Given the description of an element on the screen output the (x, y) to click on. 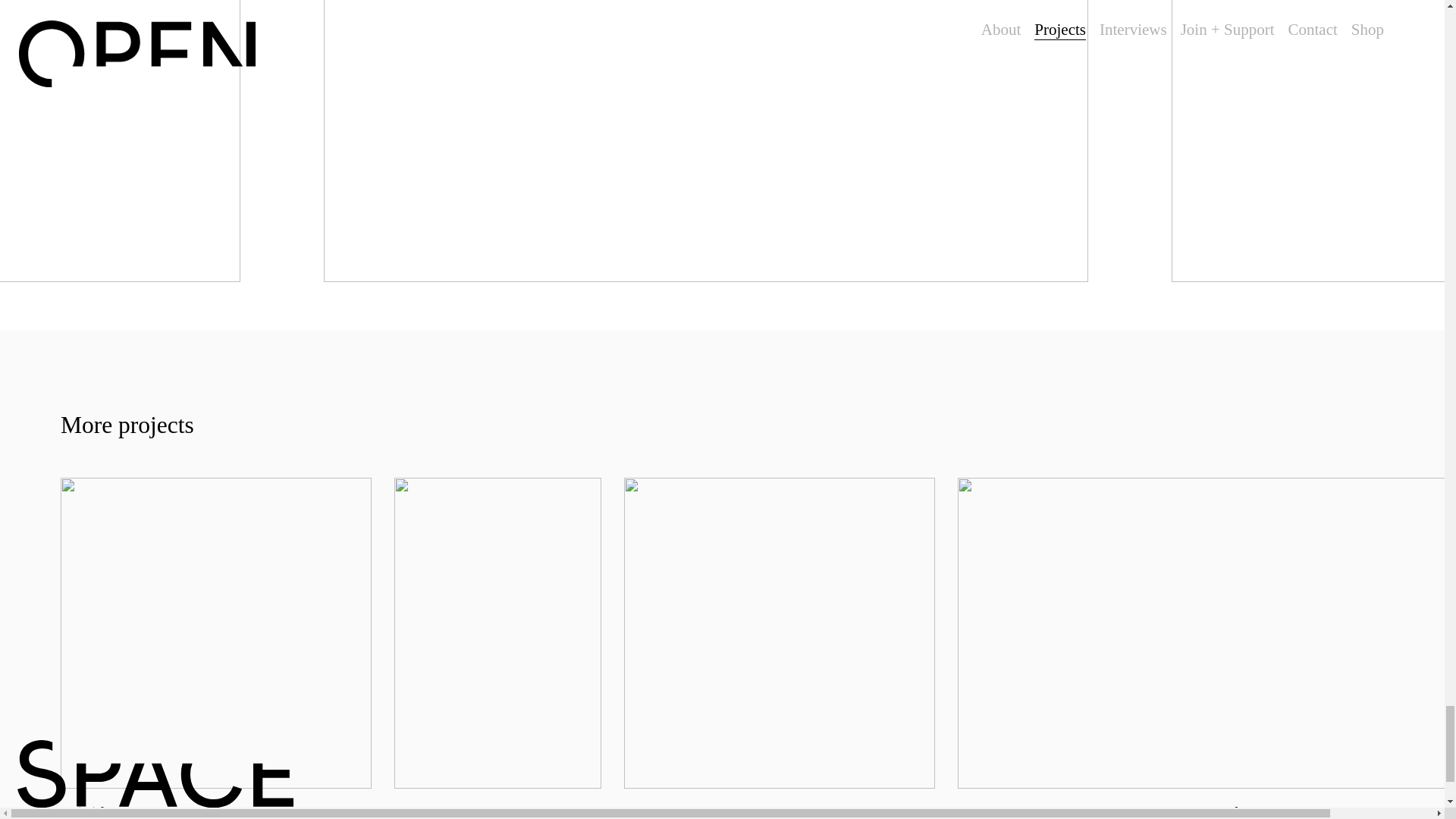
Lou Sidley, A Story by Andrew Price (779, 648)
